Given the description of an element on the screen output the (x, y) to click on. 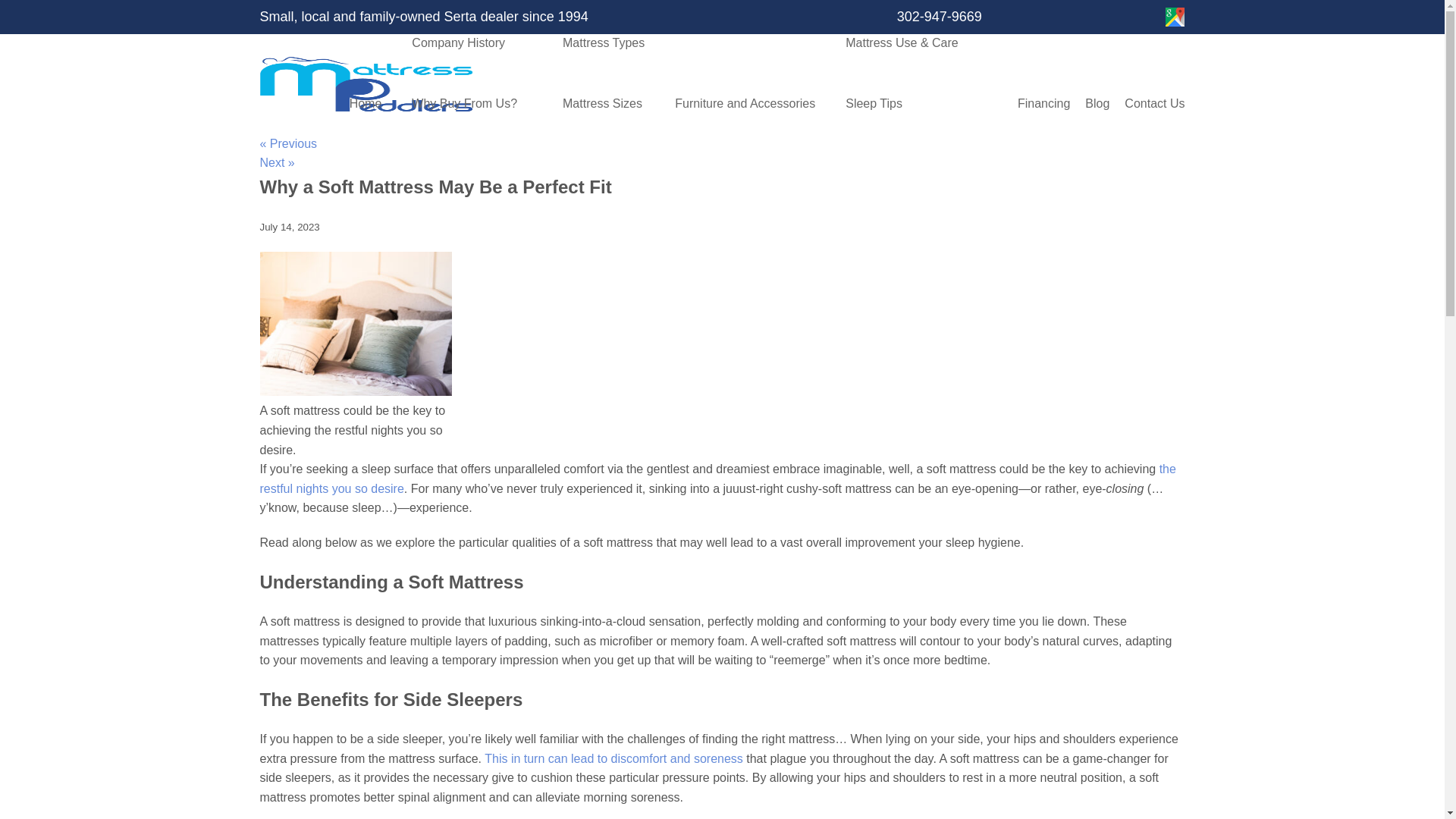
Furniture and Accessories (745, 103)
This in turn can lead to discomfort and soreness (613, 758)
Sleep Tips (916, 103)
Contact Us (1154, 103)
Mattresses (603, 6)
302-947-9669 (931, 16)
About Us (464, 6)
Company History (464, 43)
Shopping Tips (916, 6)
Mattress Sizes (603, 103)
